Given the description of an element on the screen output the (x, y) to click on. 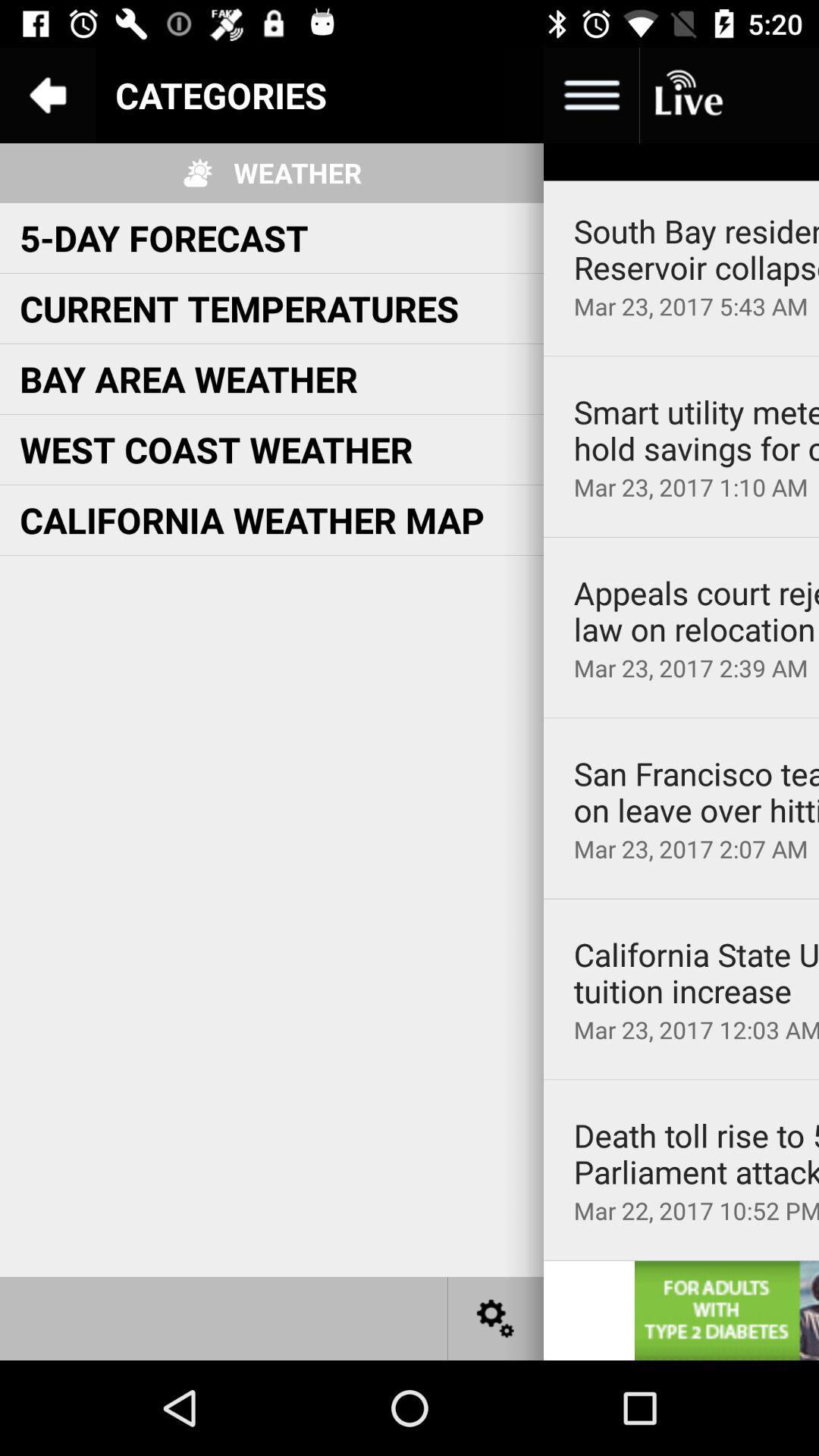
menu button (495, 95)
